Given the description of an element on the screen output the (x, y) to click on. 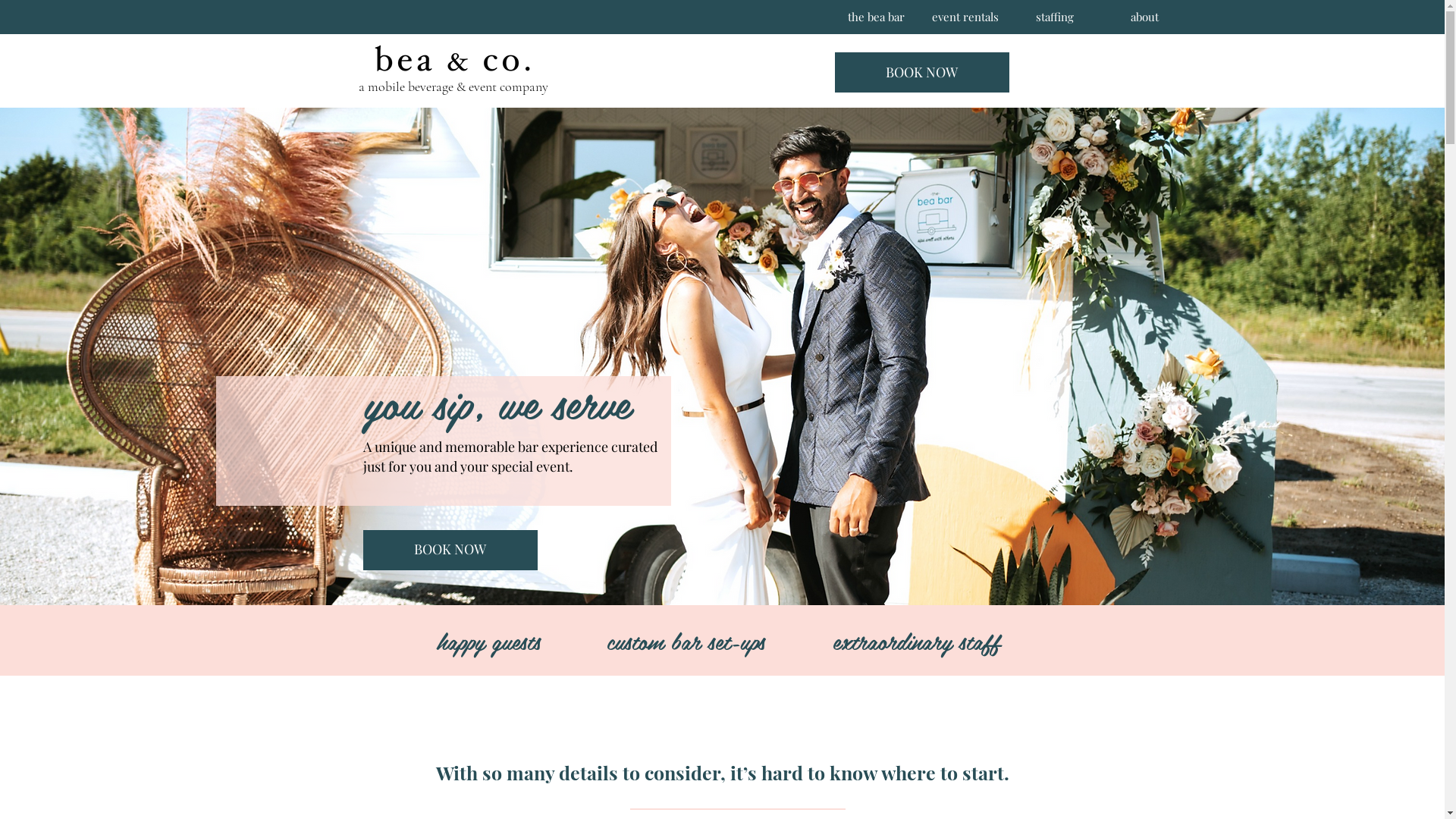
staffing Element type: text (1054, 16)
BOOK NOW Element type: text (921, 72)
event rentals Element type: text (965, 16)
the bea bar Element type: text (875, 16)
extraordinary staff Element type: text (916, 640)
happy guests Element type: text (487, 640)
BOOK NOW Element type: text (449, 550)
about Element type: text (1144, 16)
custom bar set-ups Element type: text (685, 640)
